Given the description of an element on the screen output the (x, y) to click on. 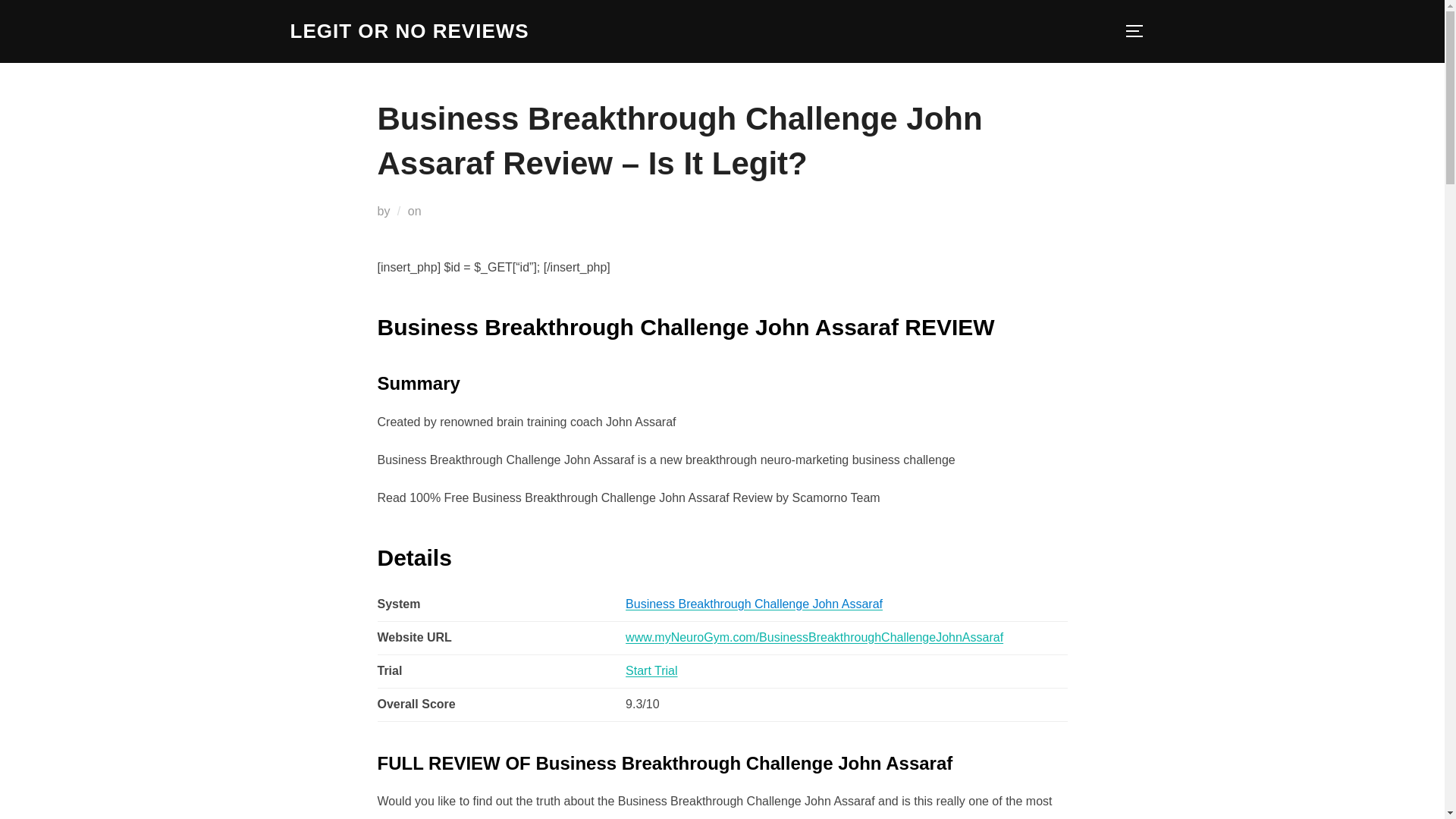
Start Trial (651, 670)
Business Breakthrough Challenge John Assaraf (754, 603)
LEGIT OR NO REVIEWS (408, 31)
